Given the description of an element on the screen output the (x, y) to click on. 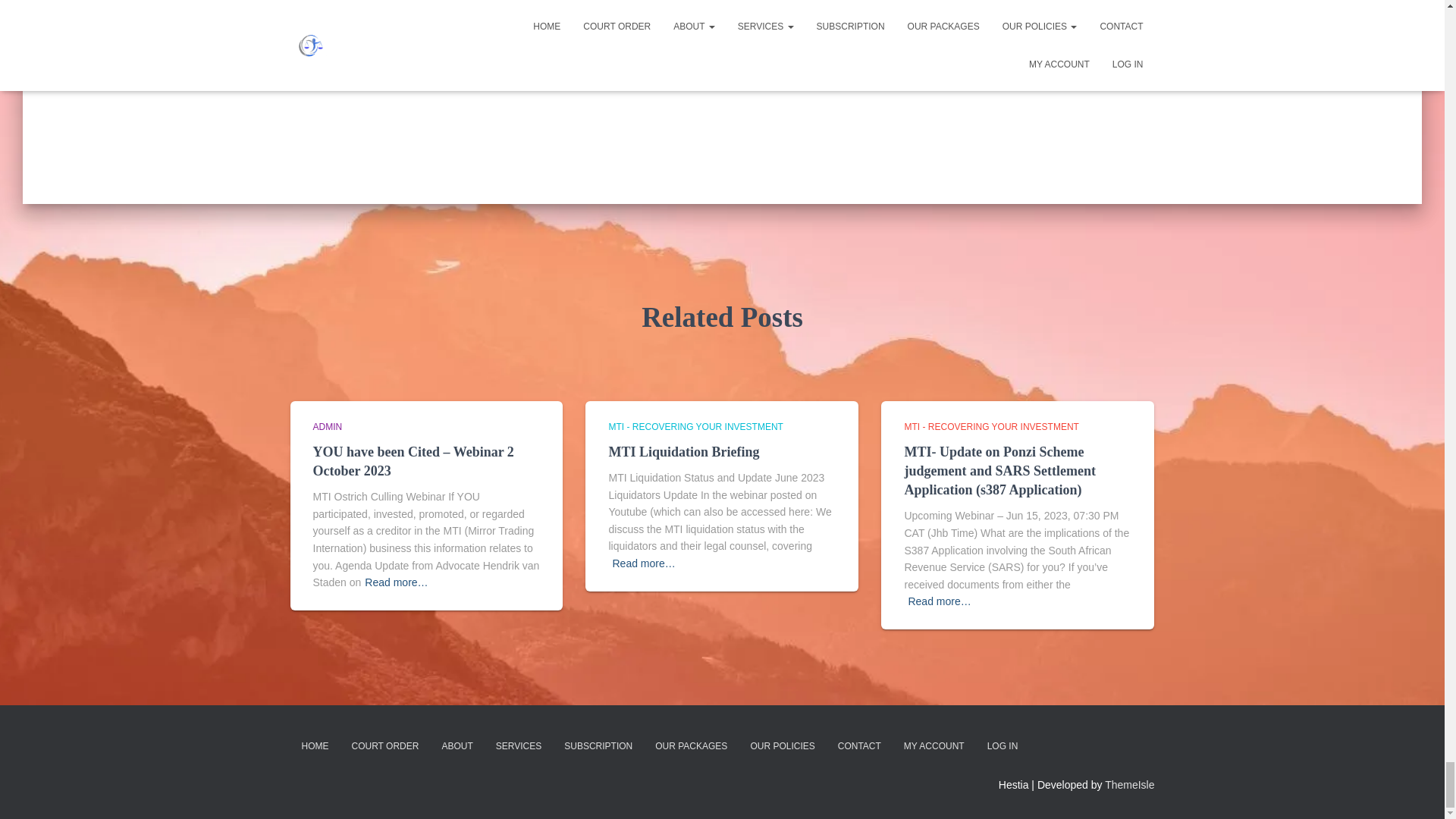
Post Comment (796, 44)
